Given the description of an element on the screen output the (x, y) to click on. 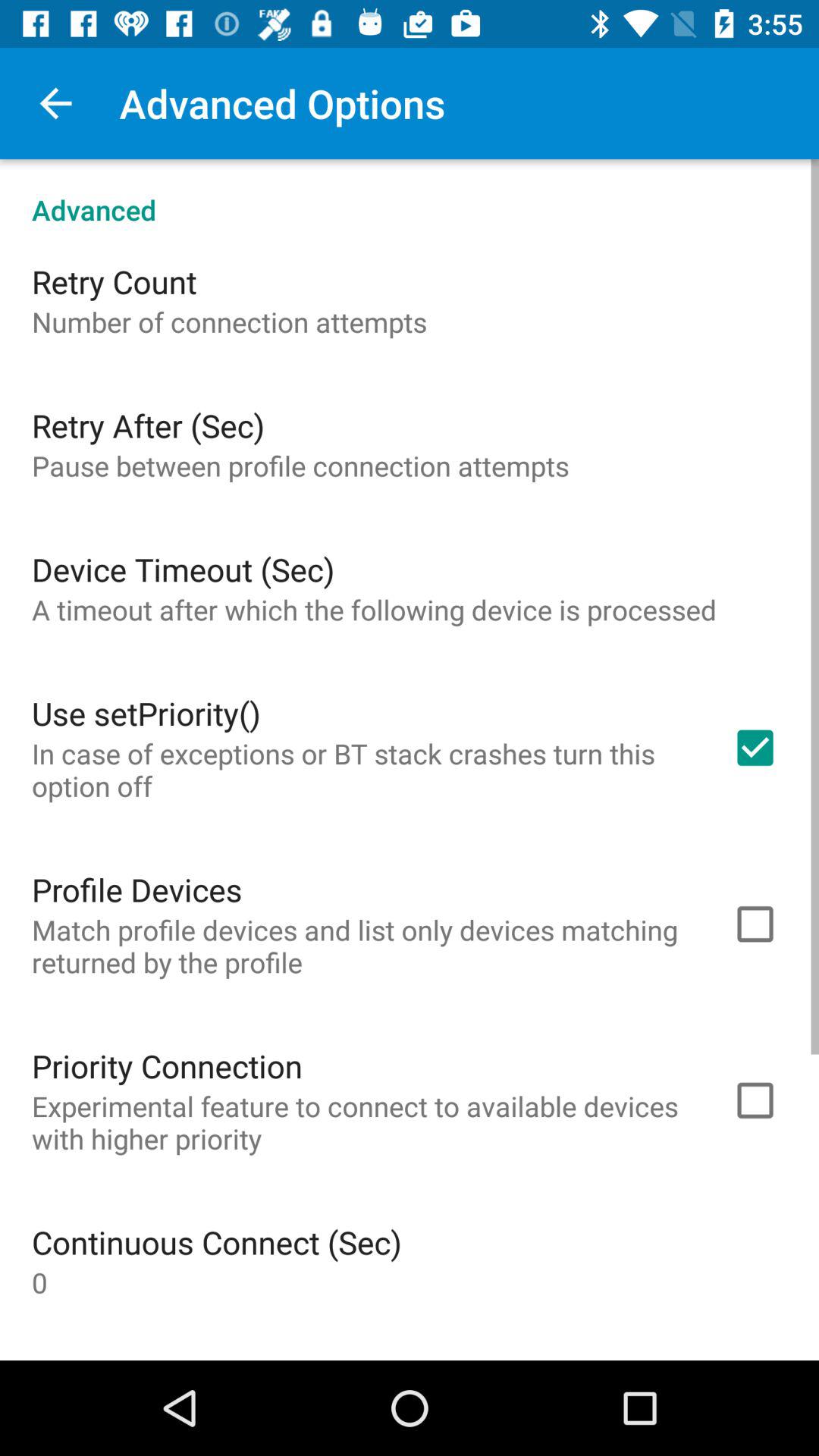
turn on item below the advanced item (113, 281)
